Given the description of an element on the screen output the (x, y) to click on. 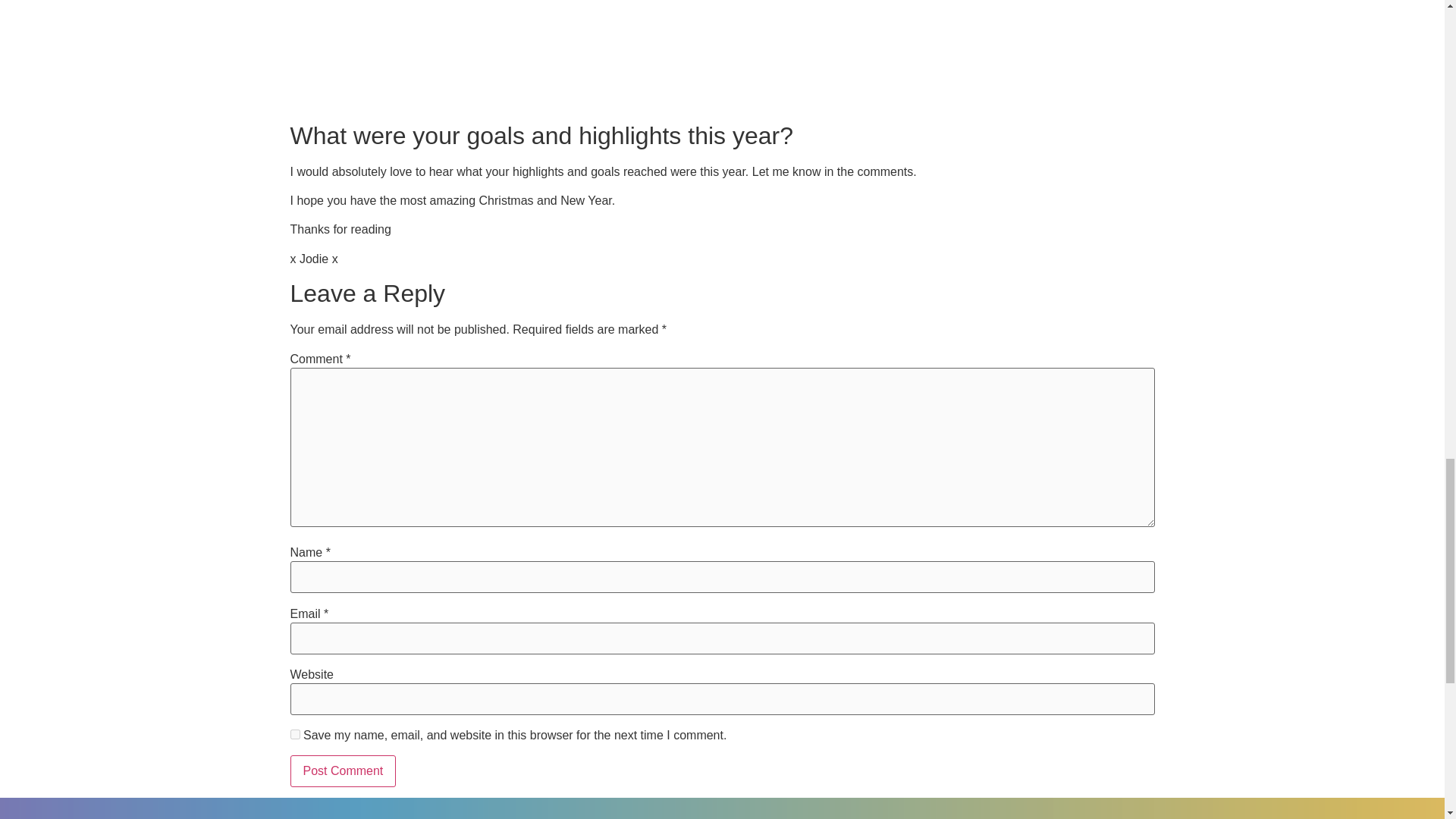
Post Comment (342, 771)
yes (294, 734)
Post Comment (342, 771)
